Given the description of an element on the screen output the (x, y) to click on. 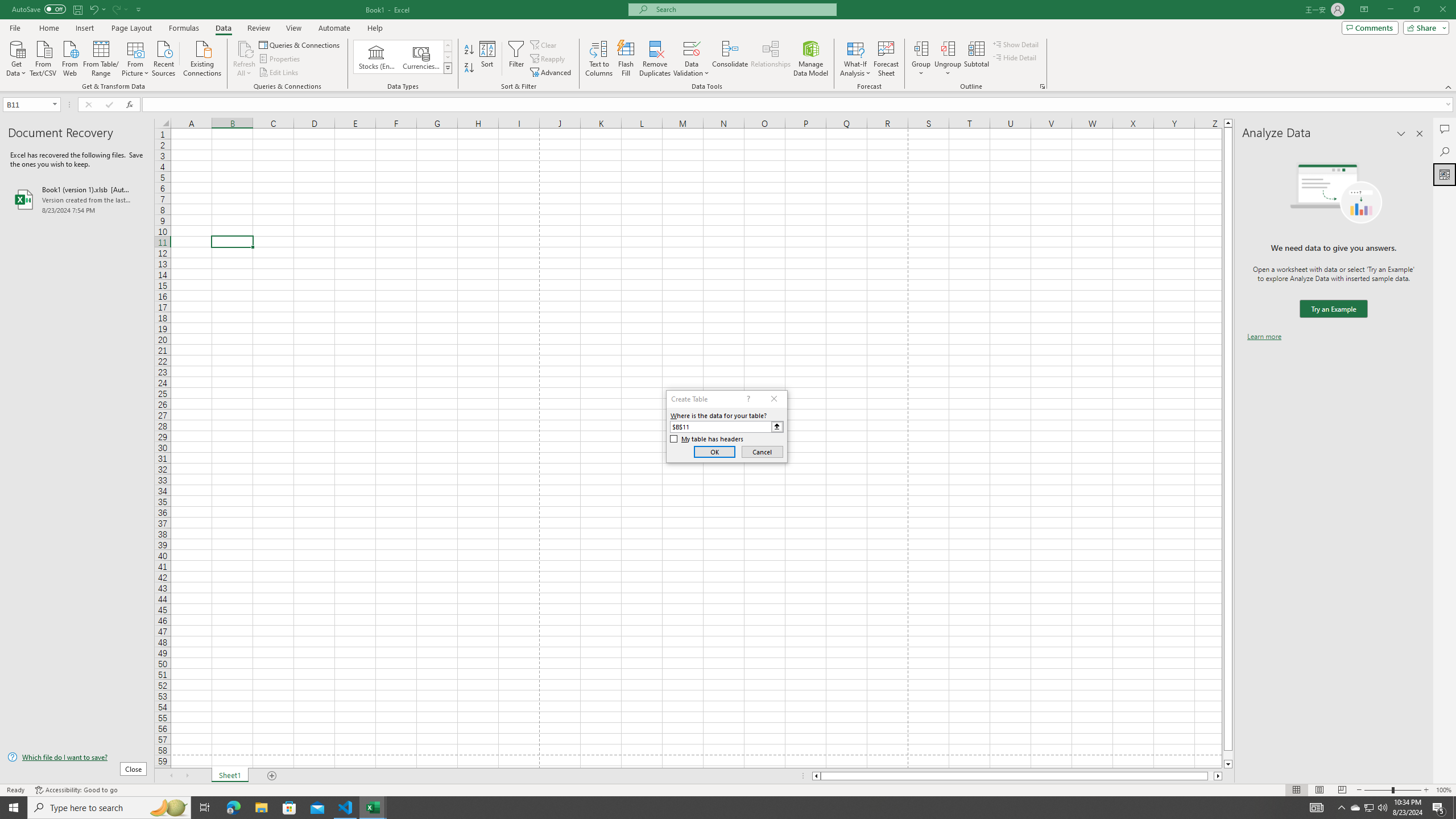
Ungroup... (947, 58)
Comments (1444, 128)
Group... (921, 58)
Analyze Data (1444, 173)
Book1 (version 1).xlsb  [AutoRecovered] (77, 199)
Row Down (448, 56)
Recent Sources (163, 57)
Open (54, 104)
Save (77, 9)
Data Validation... (691, 58)
Remove Duplicates (654, 58)
Minimize (1390, 9)
Collapse the Ribbon (1448, 86)
Edit Links (279, 72)
Reapply (548, 58)
